Given the description of an element on the screen output the (x, y) to click on. 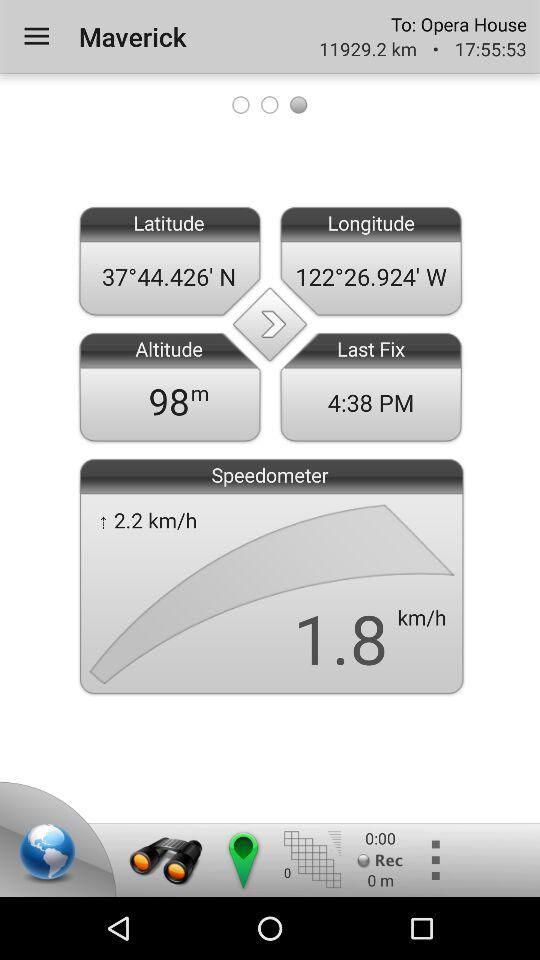
gps (242, 860)
